Given the description of an element on the screen output the (x, y) to click on. 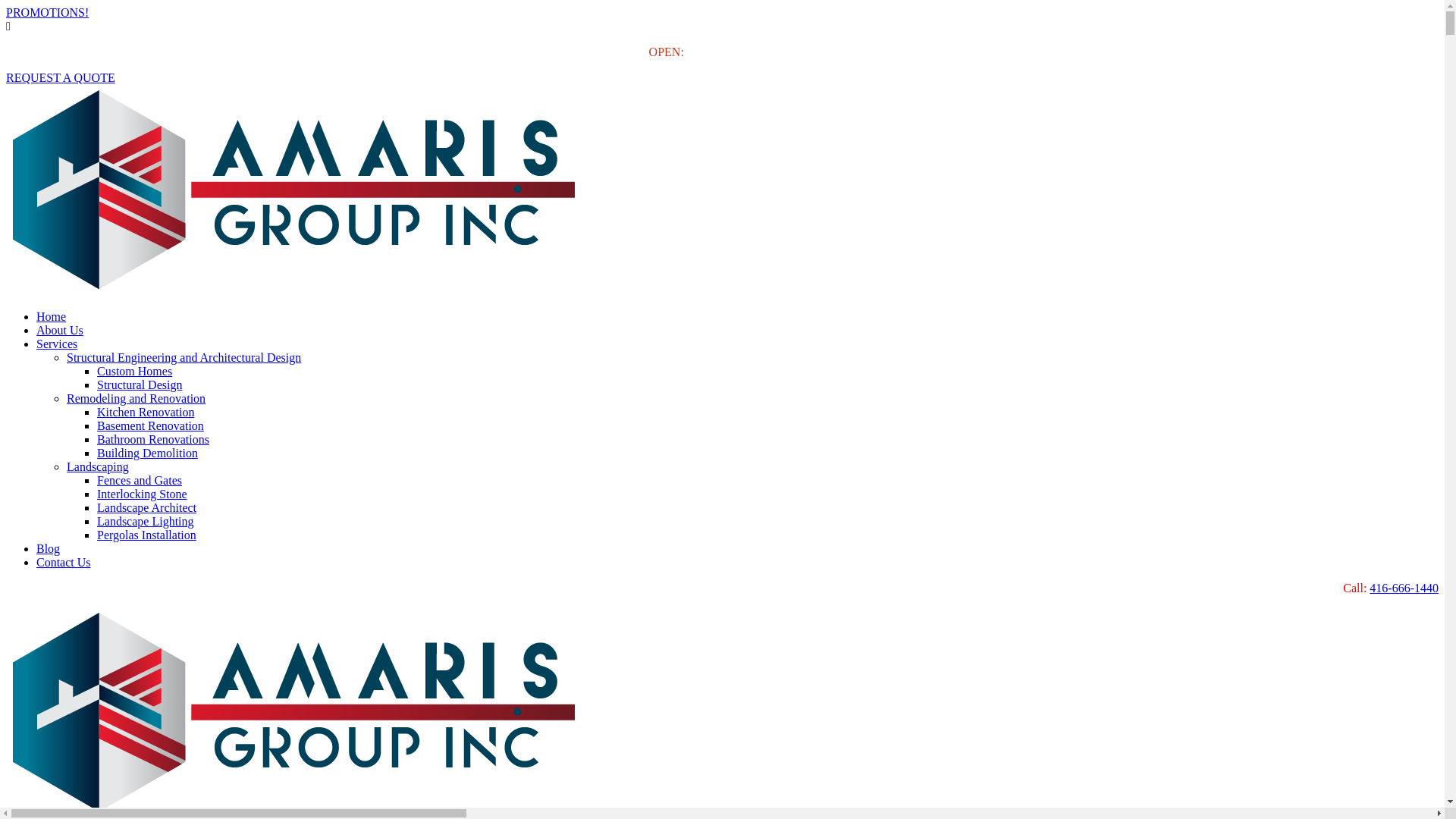
Kitchen Renovation Element type: text (145, 411)
416-666-1440 Element type: text (1403, 587)
Contact Us Element type: text (63, 561)
About Us Element type: text (59, 329)
Interlocking Stone Element type: text (142, 493)
Blog Element type: text (47, 548)
Remodeling and Renovation Element type: text (135, 398)
Custom Homes Element type: text (134, 370)
Basement Renovation Element type: text (150, 425)
REQUEST A QUOTE Element type: text (60, 77)
Fences and Gates Element type: text (139, 479)
Building Demolition Element type: text (147, 452)
Landscape Lighting Element type: text (145, 520)
Bathroom Renovations Element type: text (153, 439)
Services Element type: text (56, 343)
Home Element type: text (50, 316)
Pergolas Installation Element type: text (146, 534)
PROMOTIONS! Element type: text (47, 12)
Structural Design Element type: text (139, 384)
Landscaping Element type: text (97, 466)
Landscape Architect Element type: text (146, 507)
Structural Engineering and Architectural Design Element type: text (183, 357)
